Given the description of an element on the screen output the (x, y) to click on. 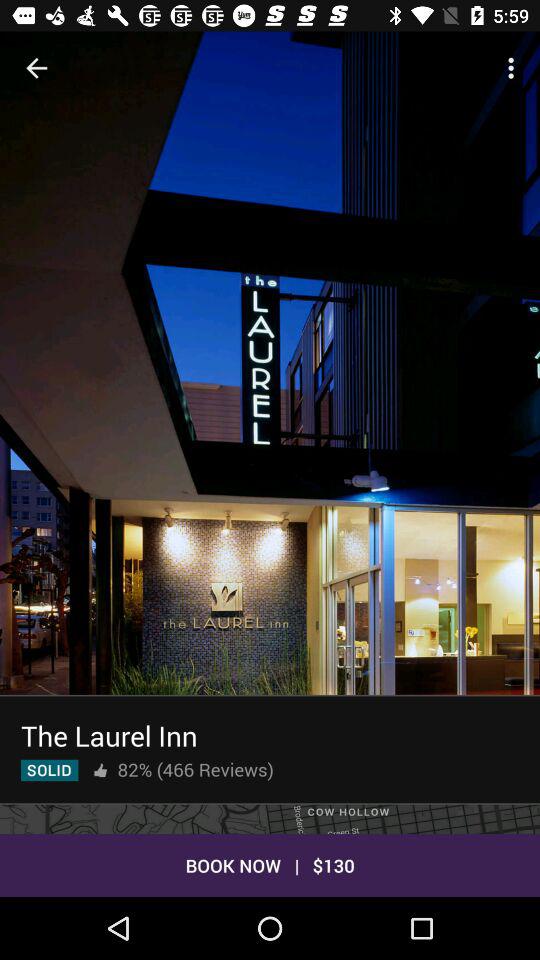
open item at the top right corner (513, 67)
